Given the description of an element on the screen output the (x, y) to click on. 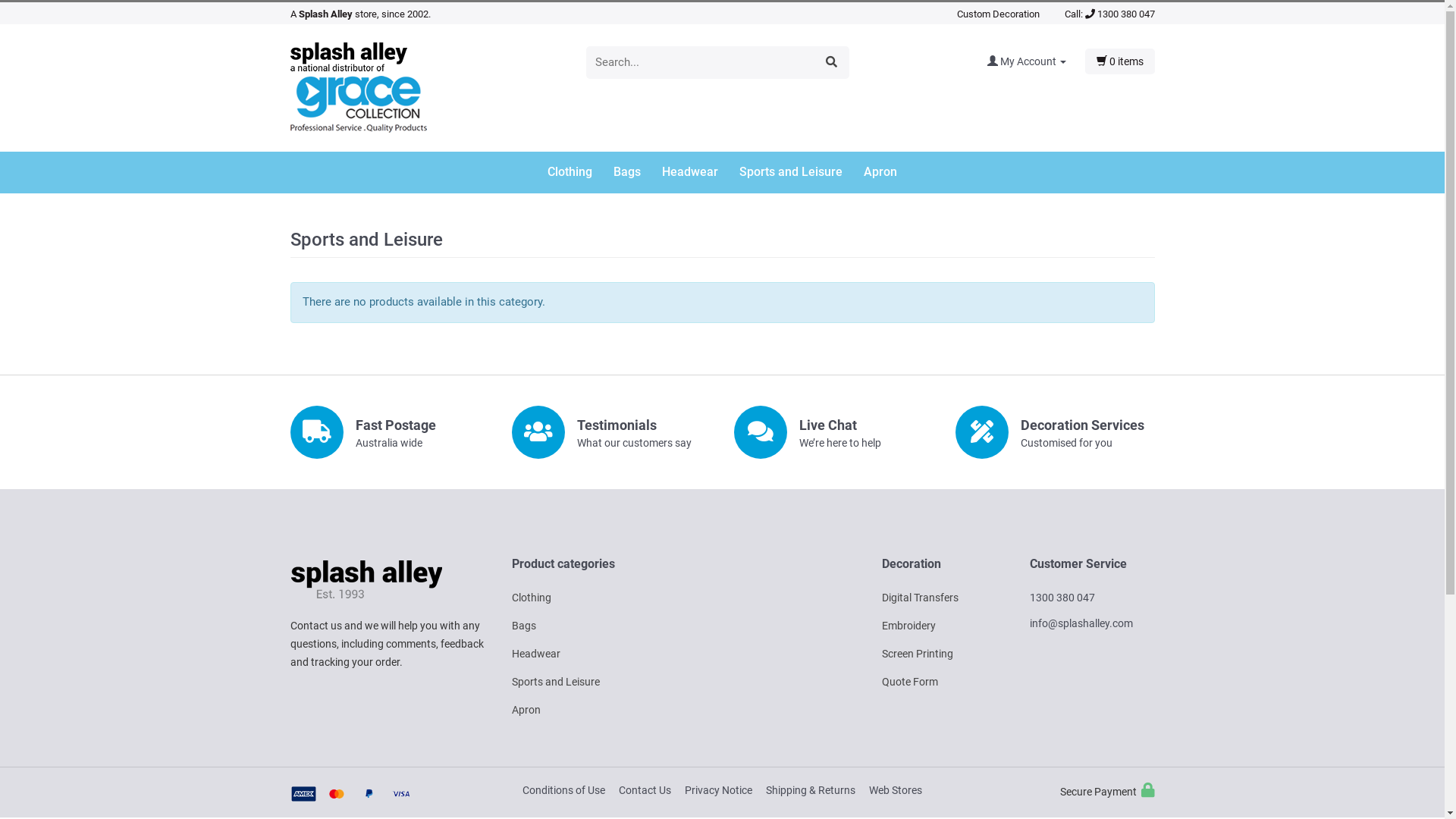
Embroidery Element type: text (908, 625)
info@splashalley.com Element type: text (1080, 623)
Privacy Notice Element type: text (718, 789)
Clothing Element type: text (578, 172)
Clothing Element type: text (531, 597)
Apron Element type: text (880, 172)
Bags Element type: text (635, 172)
Conditions of Use Element type: text (563, 789)
Sports and Leisure Element type: text (555, 681)
Headwear Element type: text (699, 172)
My Account Element type: text (1036, 61)
Web Stores Element type: text (895, 789)
Headwear Element type: text (535, 653)
Quote Form Element type: text (909, 681)
Custom Decoration Element type: text (998, 13)
1300 380 047 Element type: text (1062, 597)
Digital Transfers Element type: text (919, 597)
1300 380 047 Element type: text (1119, 13)
Screen Printing Element type: text (916, 653)
Shipping & Returns Element type: text (810, 789)
Apron Element type: text (525, 709)
Bags Element type: text (523, 625)
Contact Us Element type: text (644, 789)
Sports and Leisure Element type: text (799, 172)
